Given the description of an element on the screen output the (x, y) to click on. 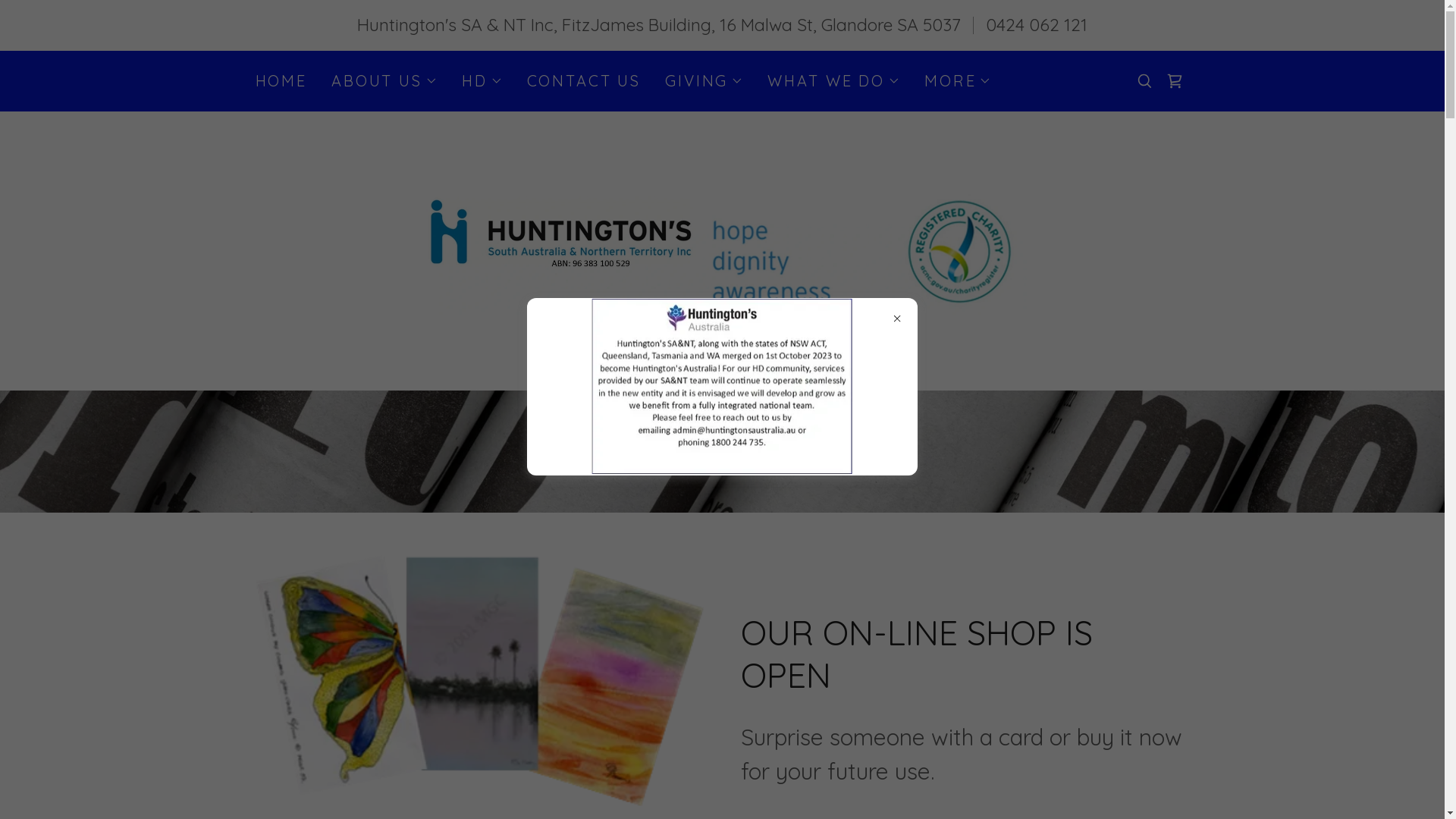
0424 062 121 Element type: text (1036, 24)
MORE Element type: text (957, 80)
Huntingtons SA & NT Inc Element type: hover (722, 248)
CONTACT US Element type: text (584, 80)
HOME Element type: text (280, 80)
GIVING Element type: text (704, 80)
WHAT WE DO Element type: text (833, 80)
HD Element type: text (481, 80)
ABOUT US Element type: text (384, 80)
